Given the description of an element on the screen output the (x, y) to click on. 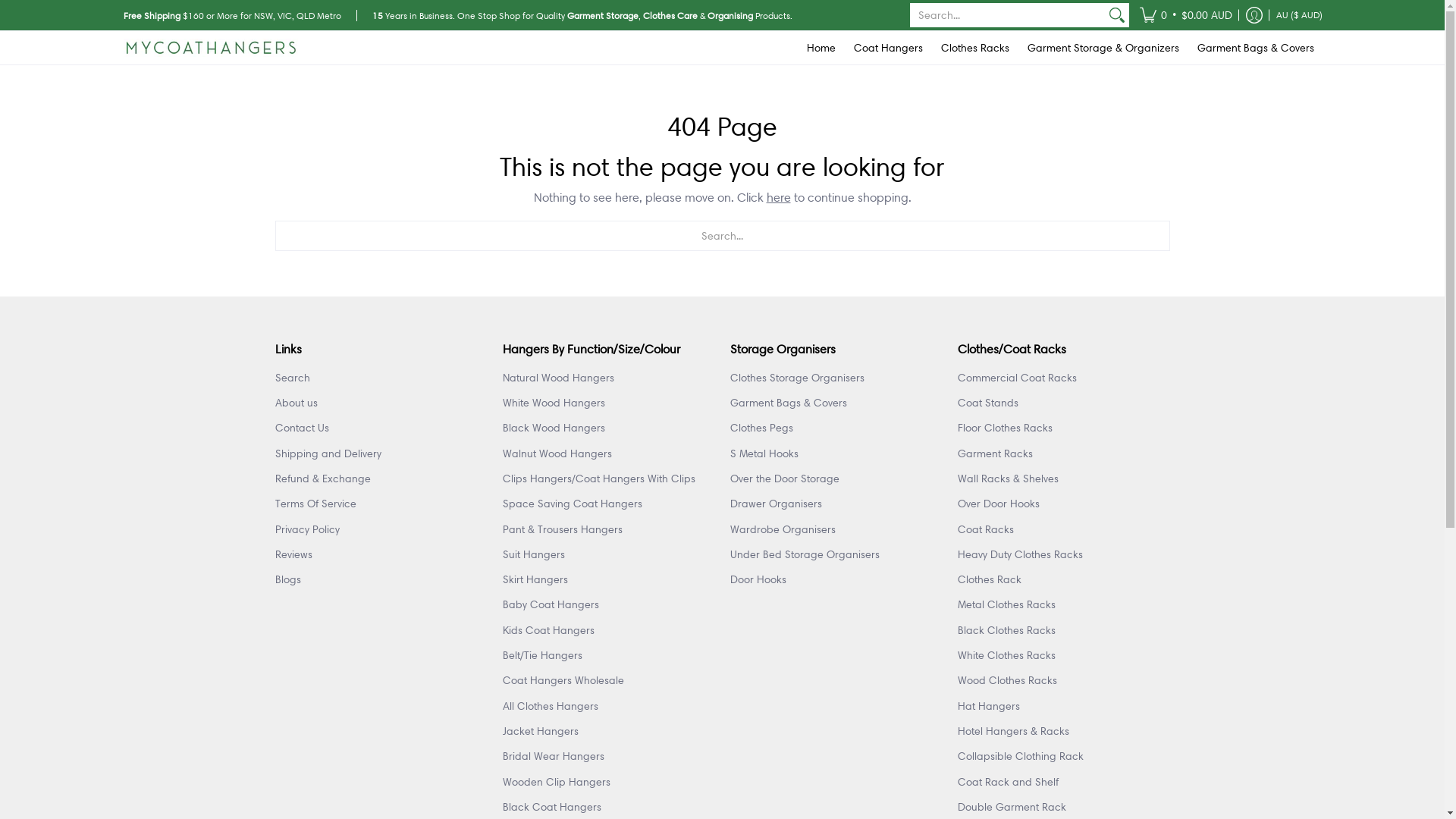
Garment Bags & Covers Element type: text (1255, 47)
Kids Coat Hangers Element type: text (547, 630)
Skirt Hangers Element type: text (534, 579)
Wall Racks & Shelves Element type: text (1007, 478)
Clothes Pegs Element type: text (760, 427)
Clothes Racks Element type: text (974, 47)
Jacket Hangers Element type: text (539, 730)
Over the Door Storage Element type: text (783, 478)
Blogs Element type: text (287, 579)
Terms Of Service Element type: text (314, 503)
Privacy Policy Element type: text (306, 529)
Double Garment Rack Element type: text (1011, 806)
Coat Hangers Element type: text (888, 47)
here Element type: text (777, 197)
Drawer Organisers Element type: text (775, 503)
Black Clothes Racks Element type: text (1005, 630)
Clothes Rack Element type: text (988, 579)
Clothes Storage Organisers Element type: text (796, 377)
Hat Hangers Element type: text (988, 705)
Garment Bags & Covers Element type: text (787, 402)
Metal Clothes Racks Element type: text (1005, 604)
Wood Clothes Racks Element type: text (1006, 680)
Hotel Hangers & Racks Element type: text (1012, 730)
Coat Racks Element type: text (985, 529)
Over Door Hooks Element type: text (997, 503)
Bridal Wear Hangers Element type: text (552, 755)
Suit Hangers Element type: text (533, 554)
White Wood Hangers Element type: text (553, 402)
Under Bed Storage Organisers Element type: text (803, 554)
Natural Wood Hangers Element type: text (557, 377)
Mycoathangers Element type: hover (209, 47)
Floor Clothes Racks Element type: text (1004, 427)
About us Element type: text (295, 402)
Heavy Duty Clothes Racks Element type: text (1019, 554)
Reviews Element type: text (292, 554)
Door Hooks Element type: text (757, 579)
Search Element type: text (291, 377)
White Clothes Racks Element type: text (1005, 655)
Black Wood Hangers Element type: text (553, 427)
AU ($ AUD) Element type: text (1299, 15)
Commercial Coat Racks Element type: text (1016, 377)
Log in Element type: hover (1254, 15)
Contact Us Element type: text (301, 427)
Home Element type: text (821, 47)
Clips Hangers/Coat Hangers With Clips Element type: text (598, 478)
Baby Coat Hangers Element type: text (550, 604)
Pant & Trousers Hangers Element type: text (561, 529)
Black Coat Hangers Element type: text (551, 806)
Wooden Clip Hangers Element type: text (555, 781)
Walnut Wood Hangers Element type: text (556, 453)
Garment Racks Element type: text (994, 453)
Coat Rack and Shelf Element type: text (1007, 781)
S Metal Hooks Element type: text (763, 453)
Shipping and Delivery Element type: text (327, 453)
All Clothes Hangers Element type: text (549, 705)
Garment Storage & Organizers Element type: text (1102, 47)
Coat Stands Element type: text (987, 402)
Wardrobe Organisers Element type: text (781, 529)
Coat Hangers Wholesale Element type: text (562, 680)
Space Saving Coat Hangers Element type: text (571, 503)
Refund & Exchange Element type: text (322, 478)
Collapsible Clothing Rack Element type: text (1019, 755)
Belt/Tie Hangers Element type: text (541, 655)
